Given the description of an element on the screen output the (x, y) to click on. 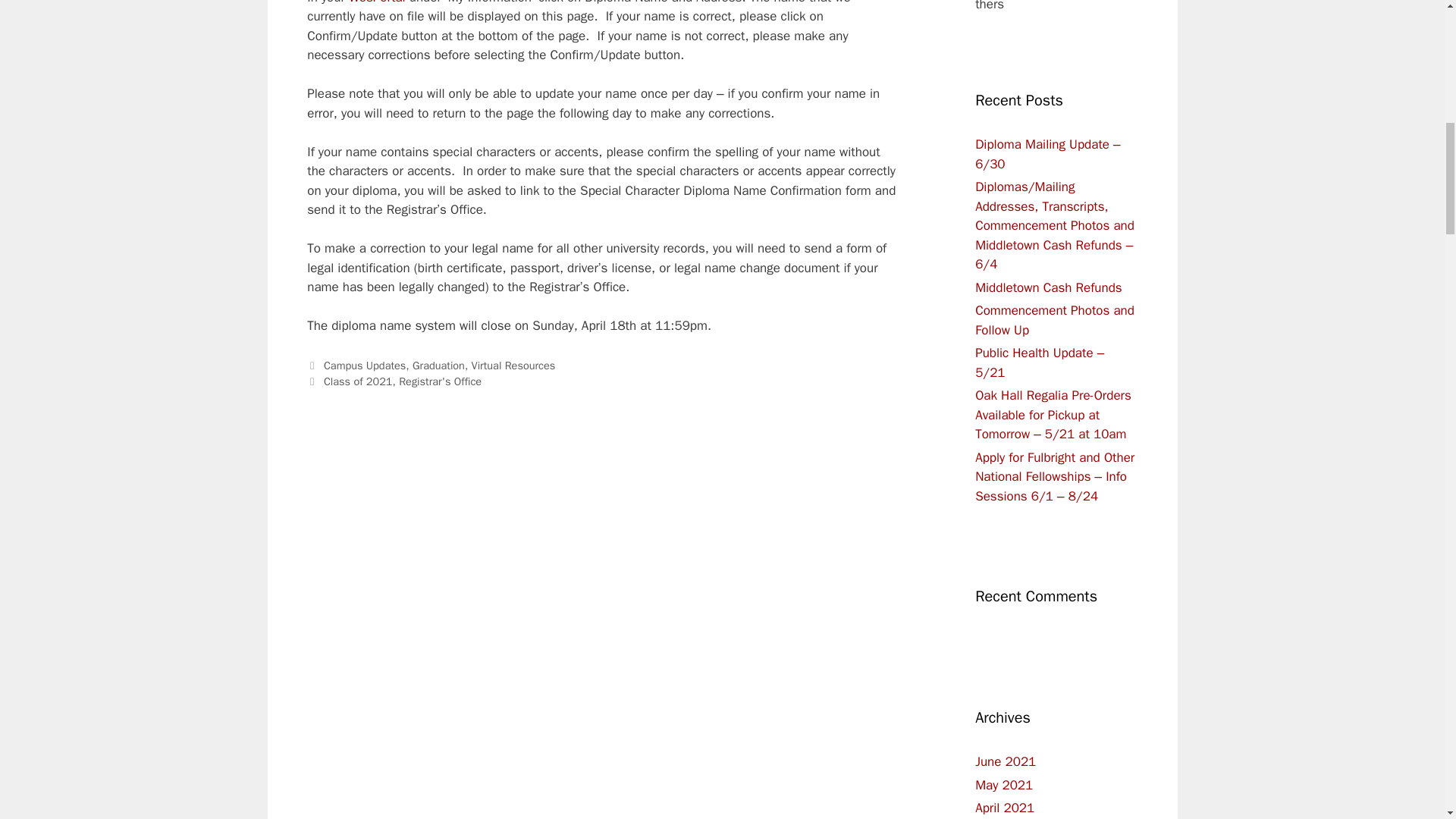
Commencement Photos and Follow Up (1054, 320)
Campus Updates (364, 365)
Graduation (438, 365)
Virtual Resources (513, 365)
Middletown Cash Refunds (1048, 287)
WesPortal (377, 2)
Registrar's Office (439, 381)
Class of 2021 (358, 381)
